Given the description of an element on the screen output the (x, y) to click on. 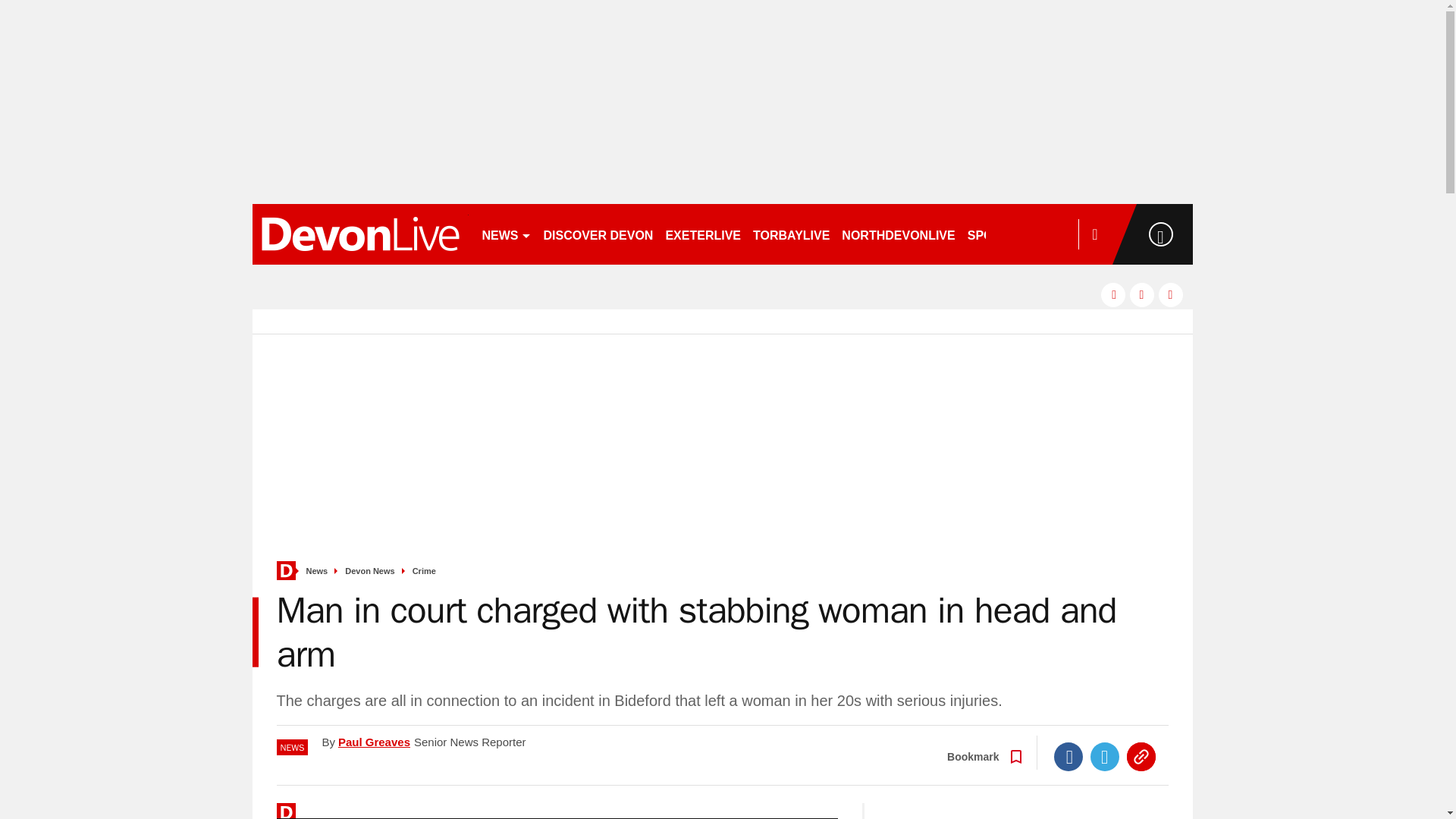
NORTHDEVONLIVE (897, 233)
DISCOVER DEVON (598, 233)
facebook (1112, 294)
instagram (1170, 294)
twitter (1141, 294)
NEWS (506, 233)
devonlive (359, 233)
Facebook (1068, 756)
EXETERLIVE (702, 233)
SPORT (993, 233)
